Given the description of an element on the screen output the (x, y) to click on. 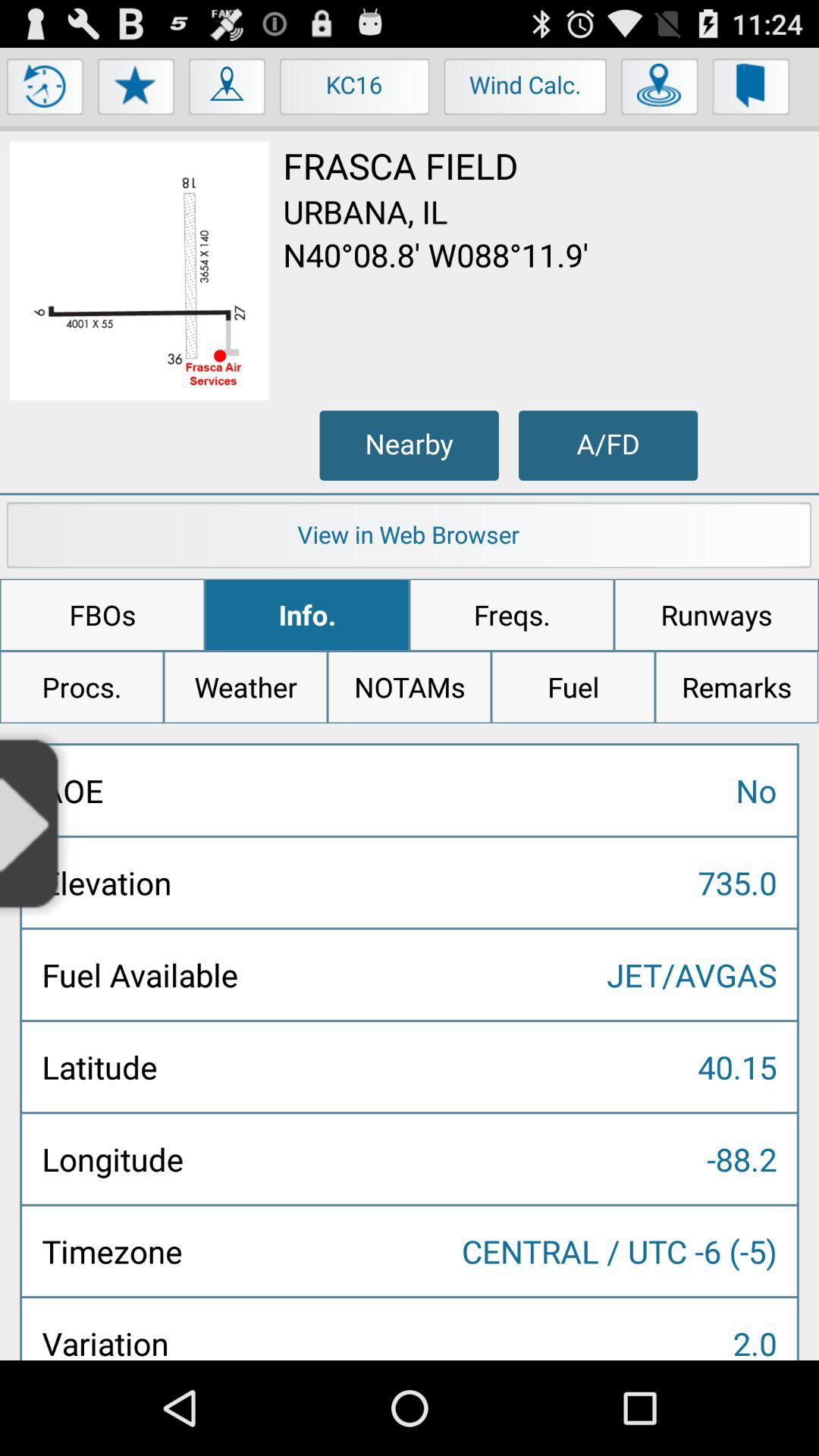
location (659, 90)
